Given the description of an element on the screen output the (x, y) to click on. 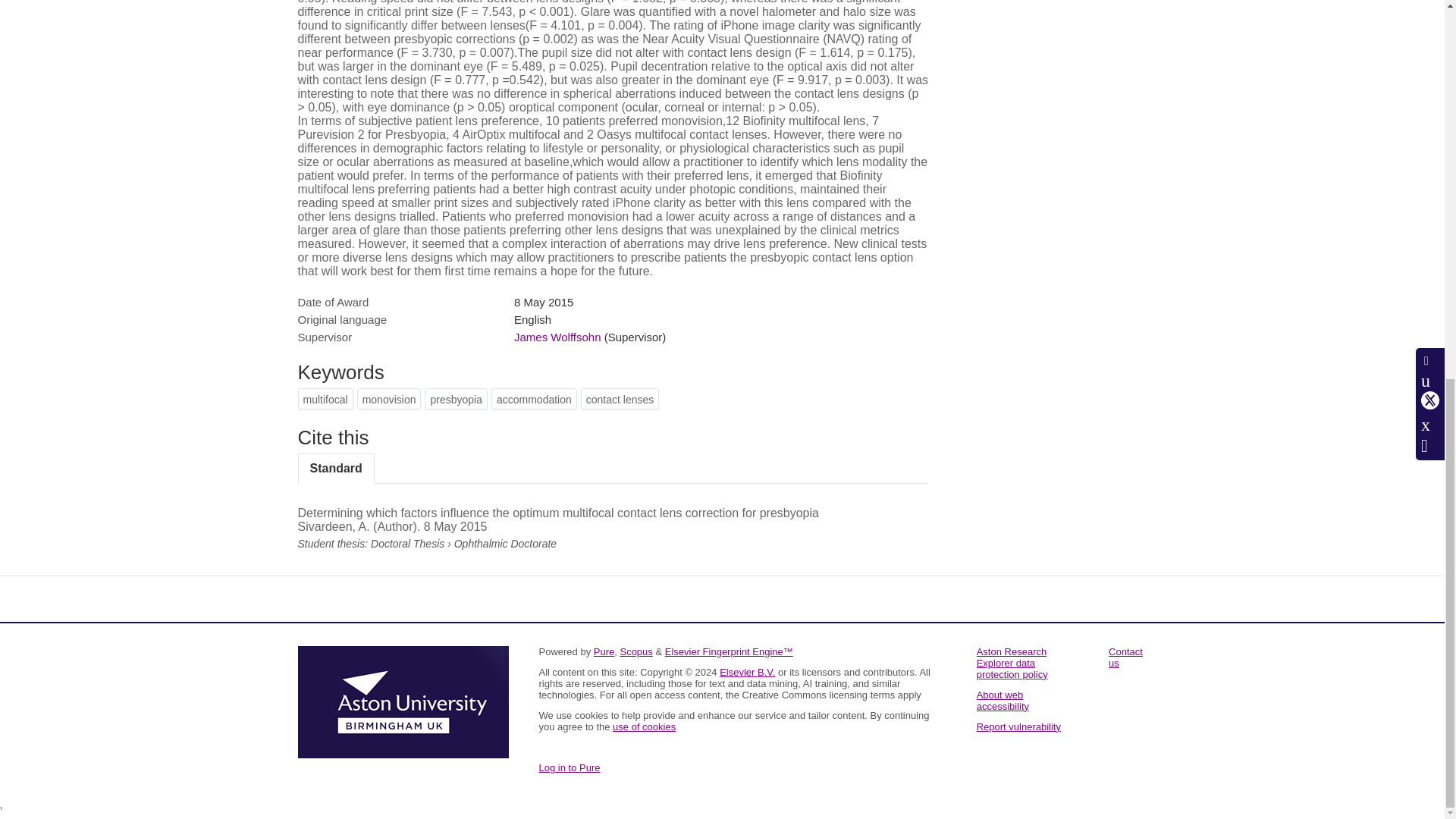
Aston Research Explorer data protection policy (1012, 663)
Elsevier B.V. (746, 672)
Report vulnerability (1018, 726)
Scopus (636, 651)
use of cookies (643, 726)
Log in to Pure (568, 767)
Pure (604, 651)
Contact us (1125, 657)
About web accessibility (1002, 700)
James Wolffsohn (557, 336)
